Given the description of an element on the screen output the (x, y) to click on. 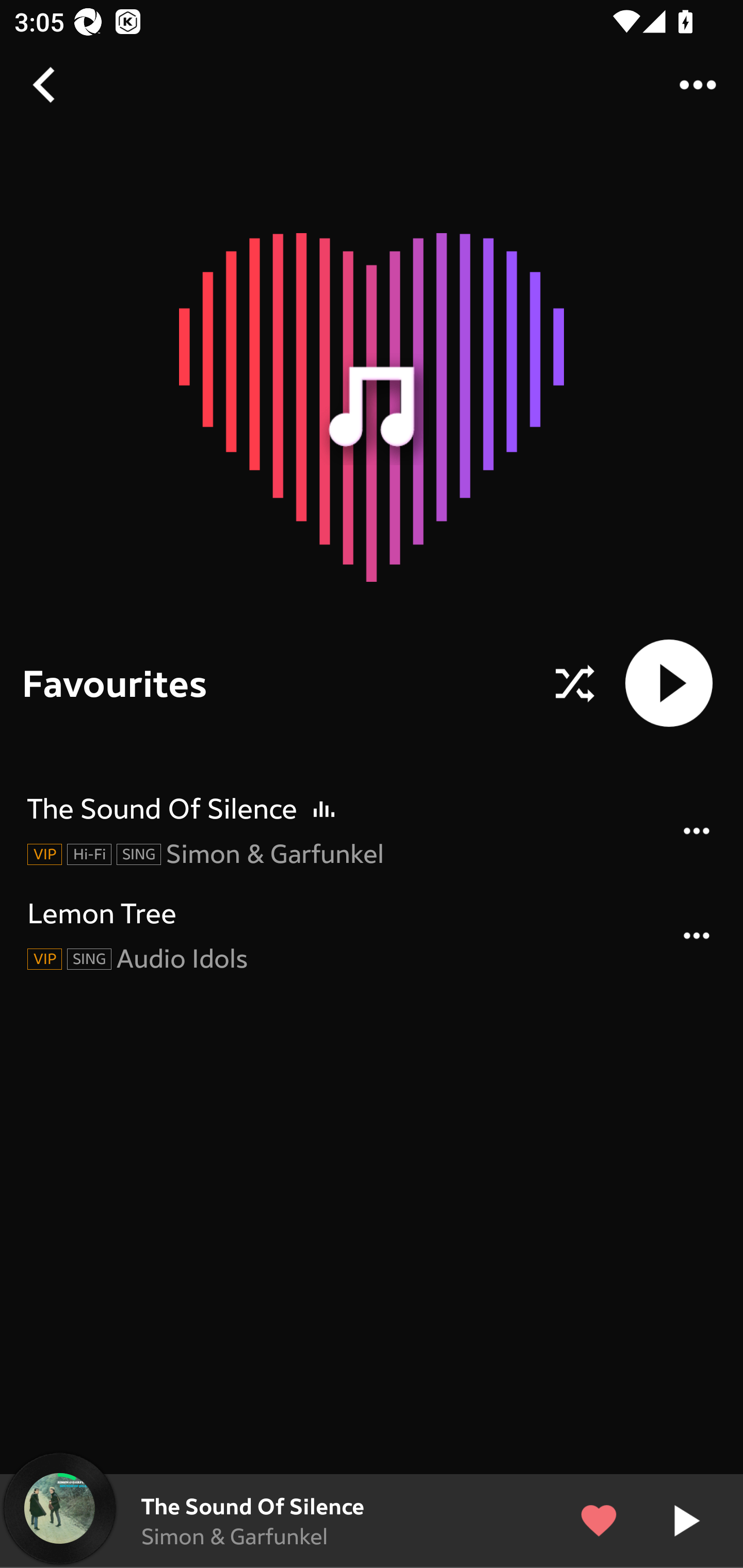
Lemon Tree VIP SING Audio Idols (371, 934)
The Sound Of Silence Simon & Garfunkel (371, 1520)
